Given the description of an element on the screen output the (x, y) to click on. 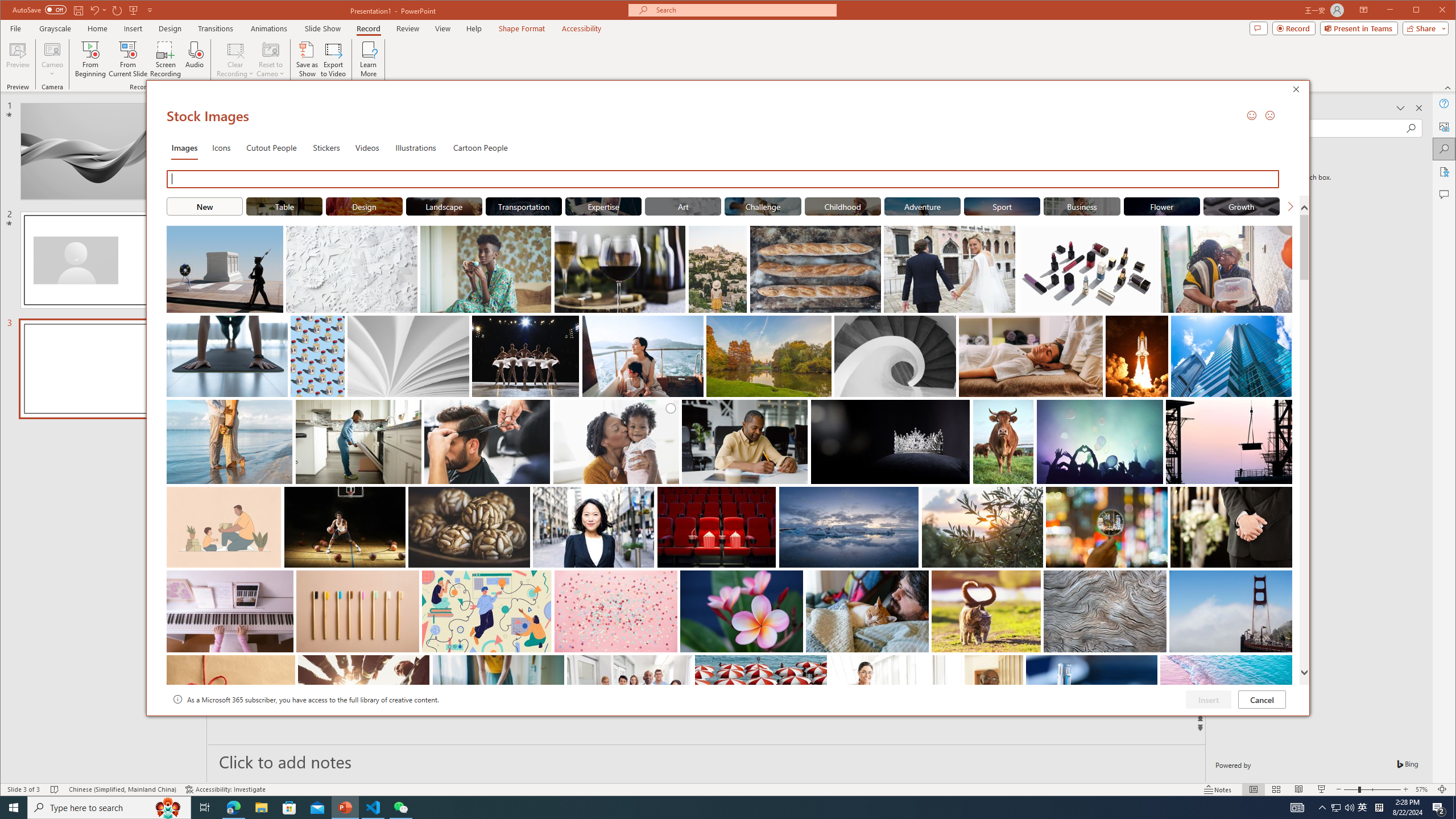
Action Center, 2 new notifications (1439, 807)
"Childhood" Stock Images. (842, 206)
From Current Slide... (127, 59)
"New" Stock Images. (204, 206)
Search Stock Images (724, 178)
